Given the description of an element on the screen output the (x, y) to click on. 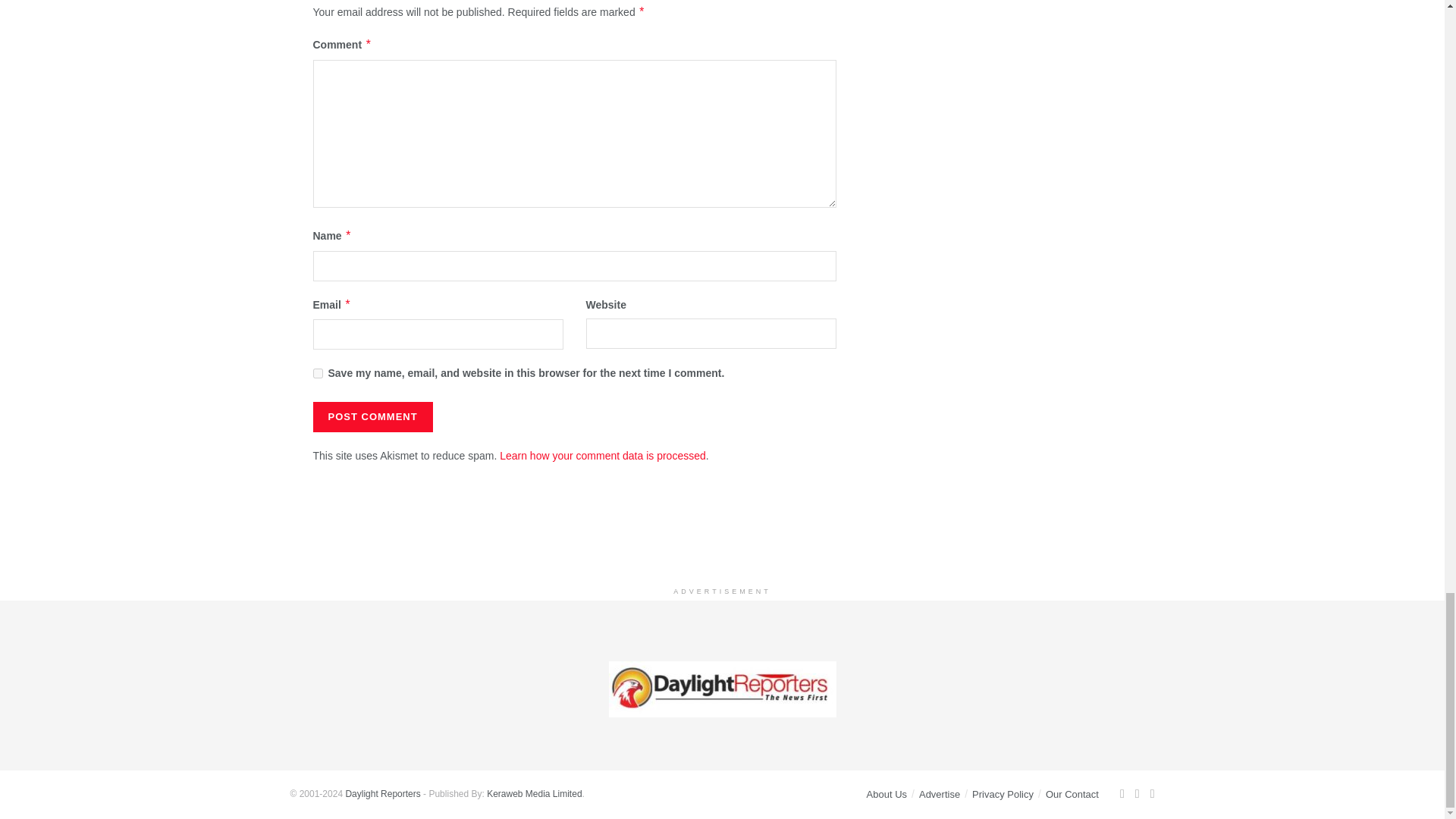
Post Comment (372, 417)
yes (317, 373)
Advertisement (722, 540)
